Given the description of an element on the screen output the (x, y) to click on. 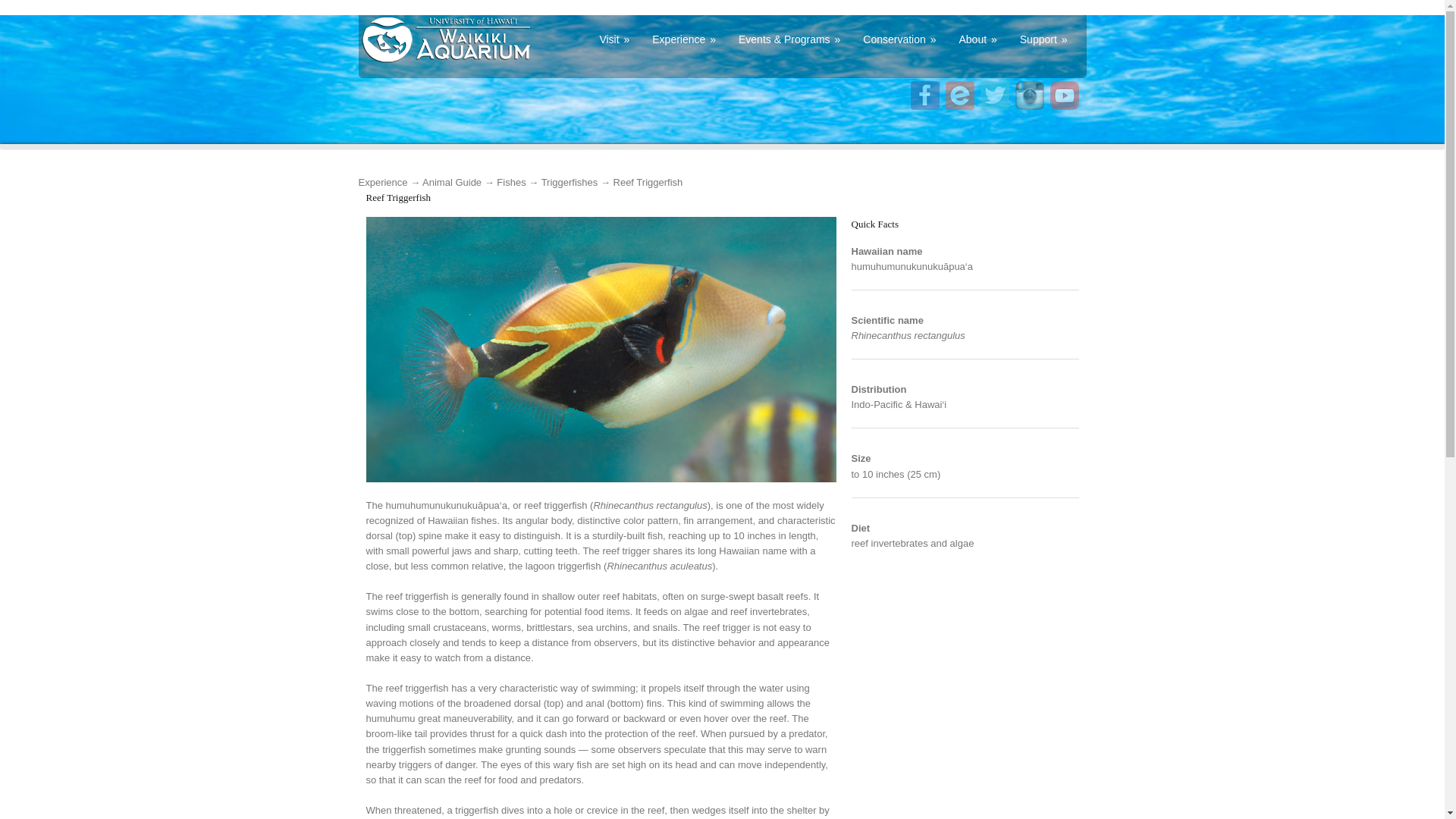
Go to Experience. (382, 182)
Go to Animal Guide. (451, 182)
Go to Fishes. (510, 182)
Go to Triggerfishes. (569, 182)
